Given the description of an element on the screen output the (x, y) to click on. 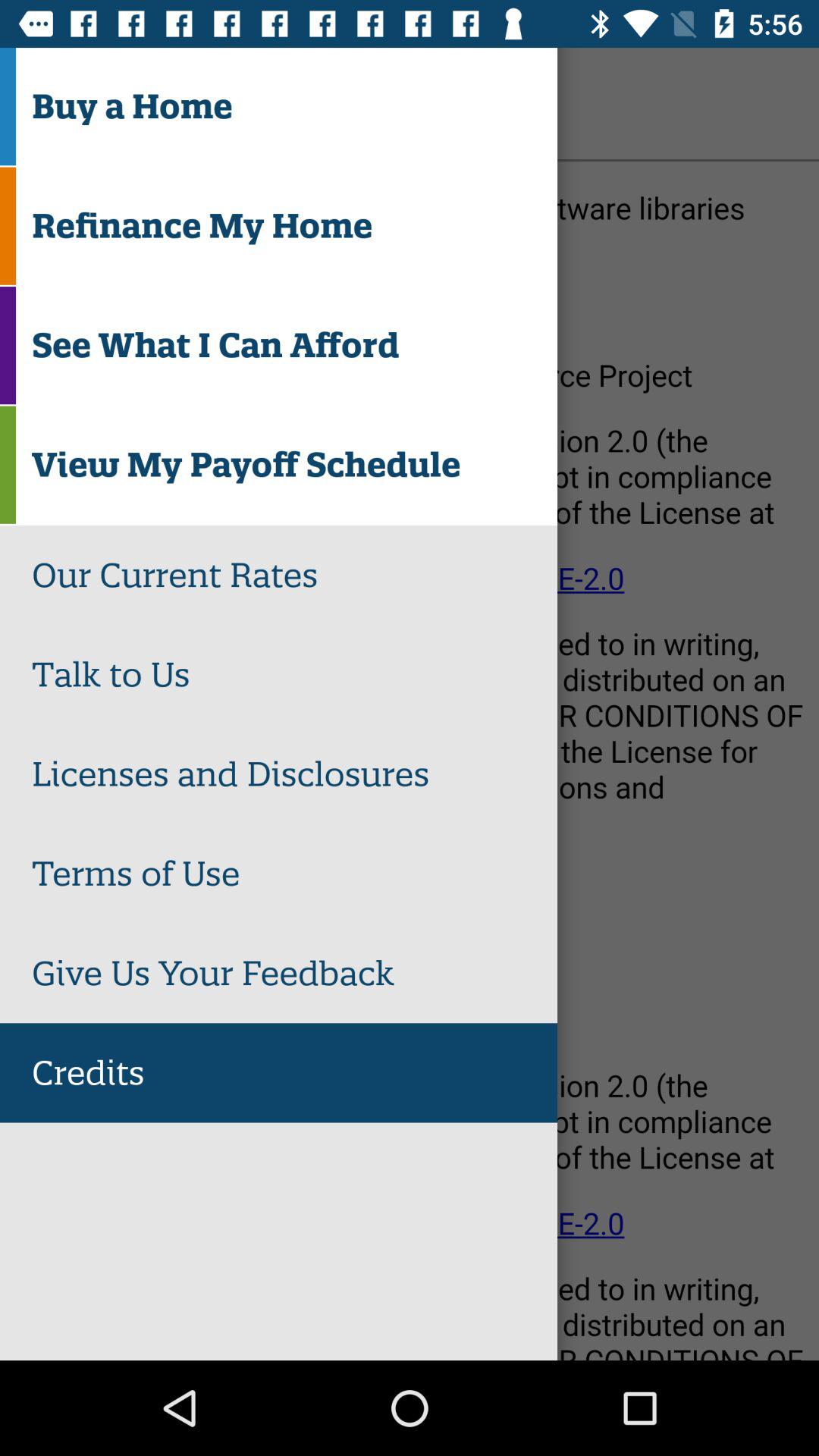
turn off the buy a home (294, 106)
